Given the description of an element on the screen output the (x, y) to click on. 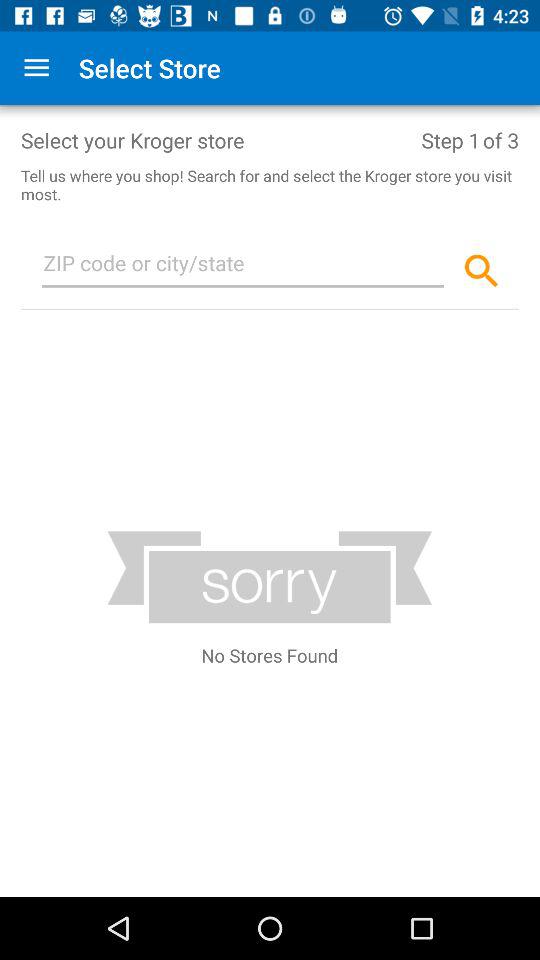
click item next to the select store item (36, 68)
